Given the description of an element on the screen output the (x, y) to click on. 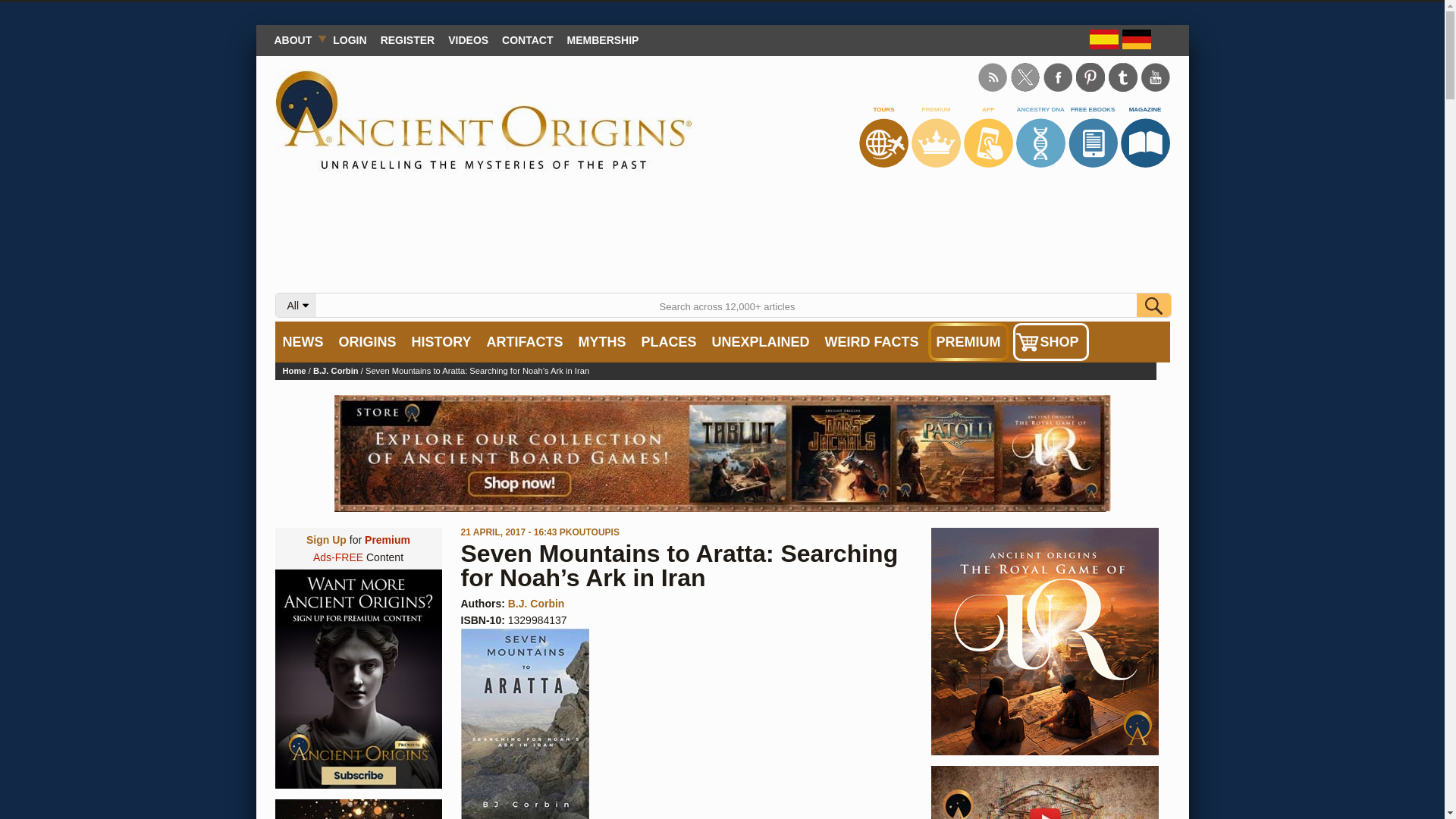
Our Mission (296, 40)
Contact us (526, 40)
REGISTER (408, 40)
VIDEOS (468, 40)
Login (349, 40)
CONTACT (526, 40)
Video Gallery (468, 40)
LOGIN (349, 40)
Find (1152, 304)
ABOUT (296, 40)
